Given the description of an element on the screen output the (x, y) to click on. 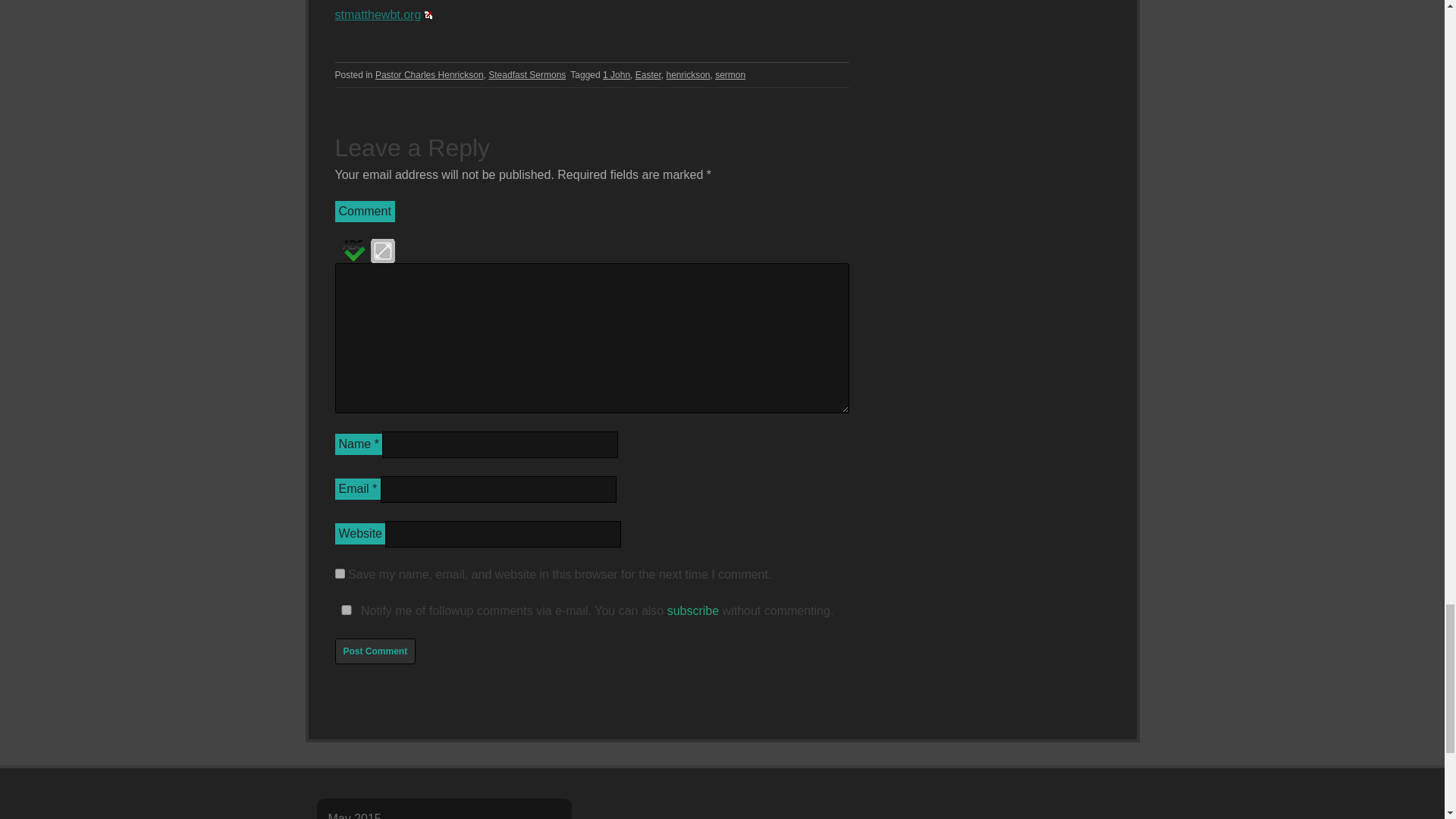
yes (346, 610)
yes (339, 573)
Post Comment (375, 651)
